Given the description of an element on the screen output the (x, y) to click on. 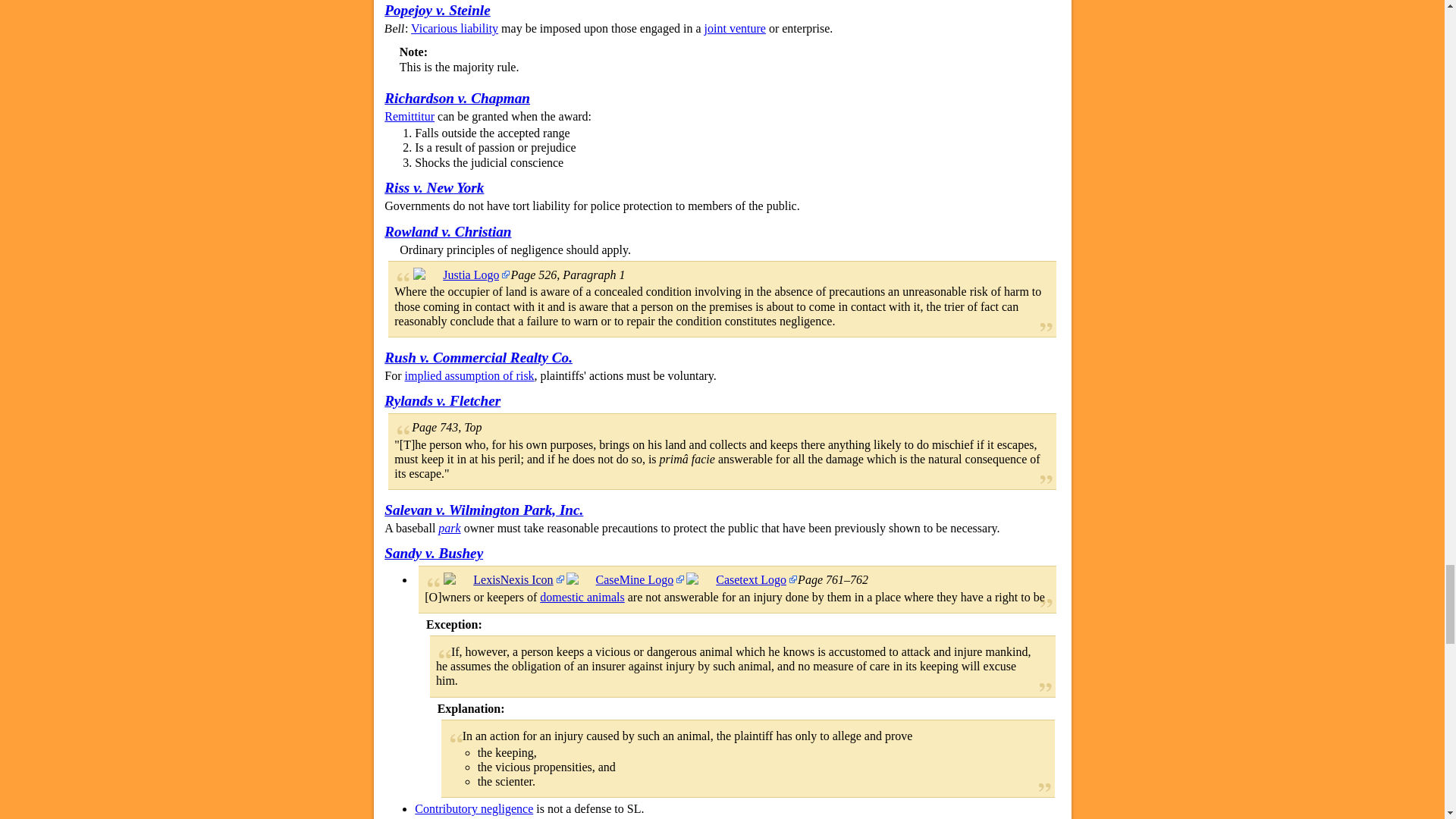
View page 321 on CaseMine (624, 579)
View headnote 1 on Lexis Advance (503, 579)
View page 321 on Casetext (740, 579)
